Given the description of an element on the screen output the (x, y) to click on. 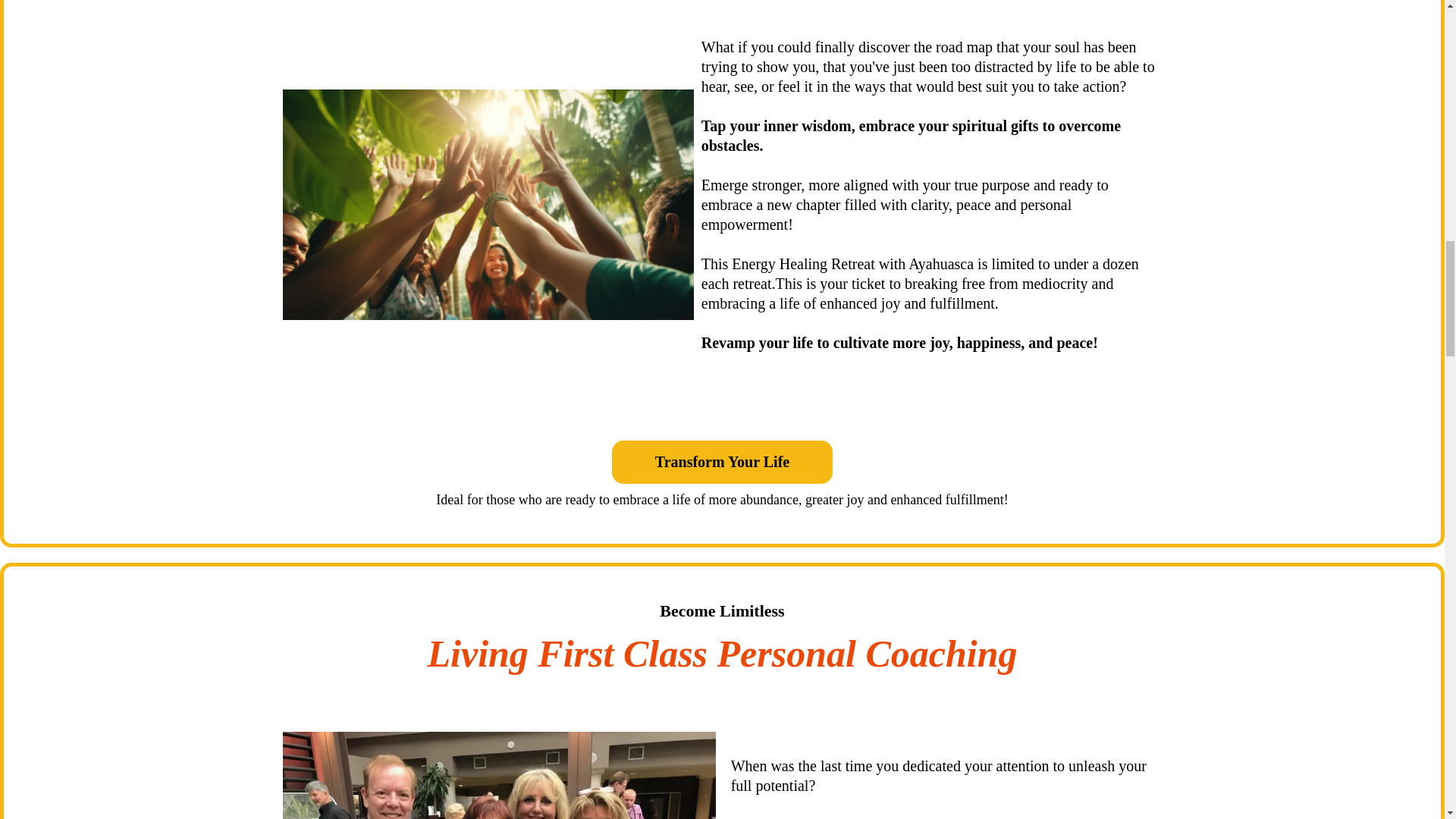
Transform Your Life (721, 462)
